Given the description of an element on the screen output the (x, y) to click on. 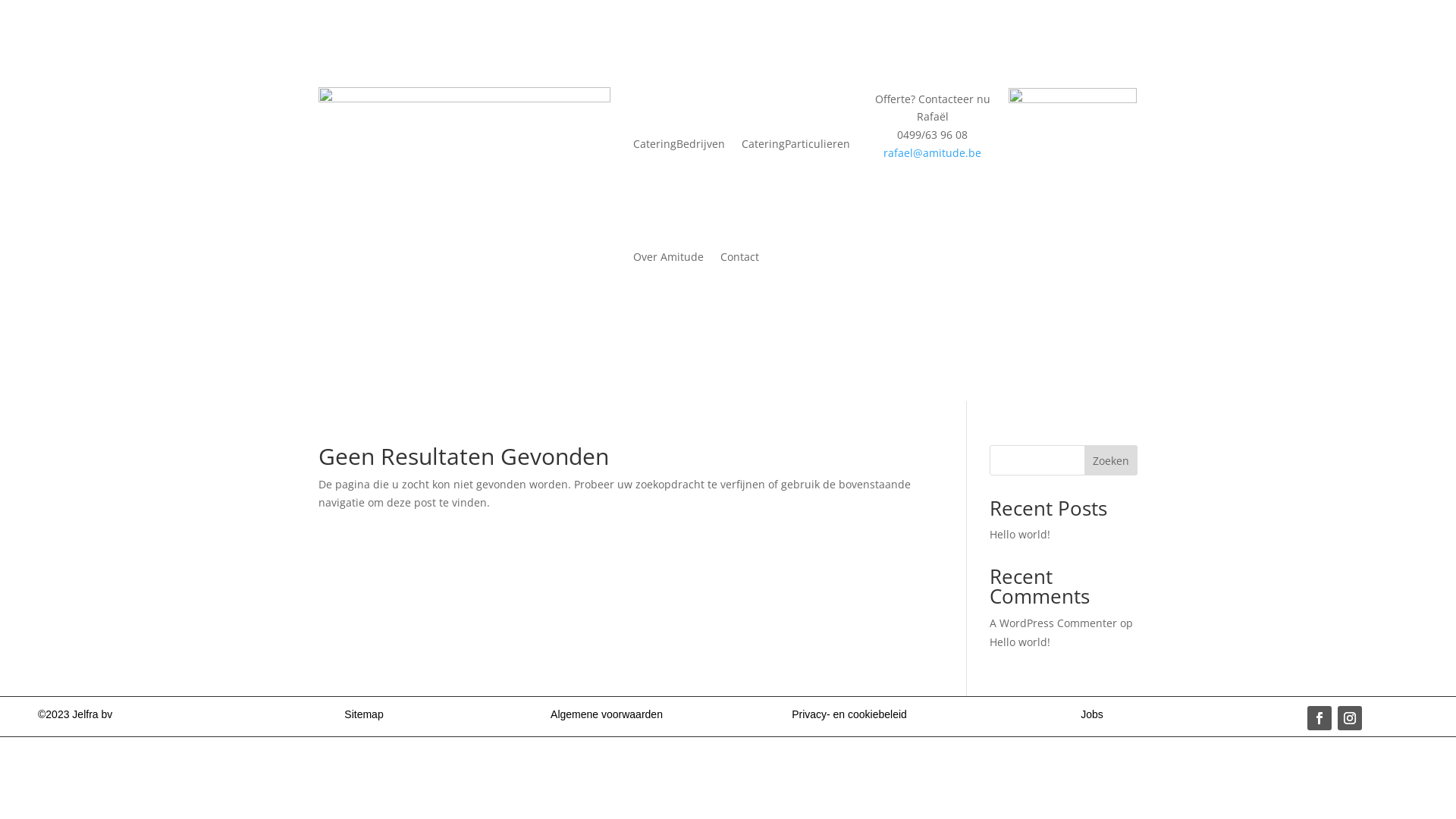
Volg op Instagram Element type: hover (1349, 718)
Zoeken Element type: text (1110, 460)
Catering
Particulieren Element type: text (795, 143)
Volg op Facebook Element type: hover (1319, 718)
Hello world! Element type: text (1019, 534)
Over Amitude Element type: text (668, 257)
rafael@amitude.be Element type: text (932, 152)
A WordPress Commenter Element type: text (1053, 622)
Hello world! Element type: text (1019, 641)
Catering
Bedrijven Element type: text (678, 143)
Contact Element type: text (739, 257)
